Given the description of an element on the screen output the (x, y) to click on. 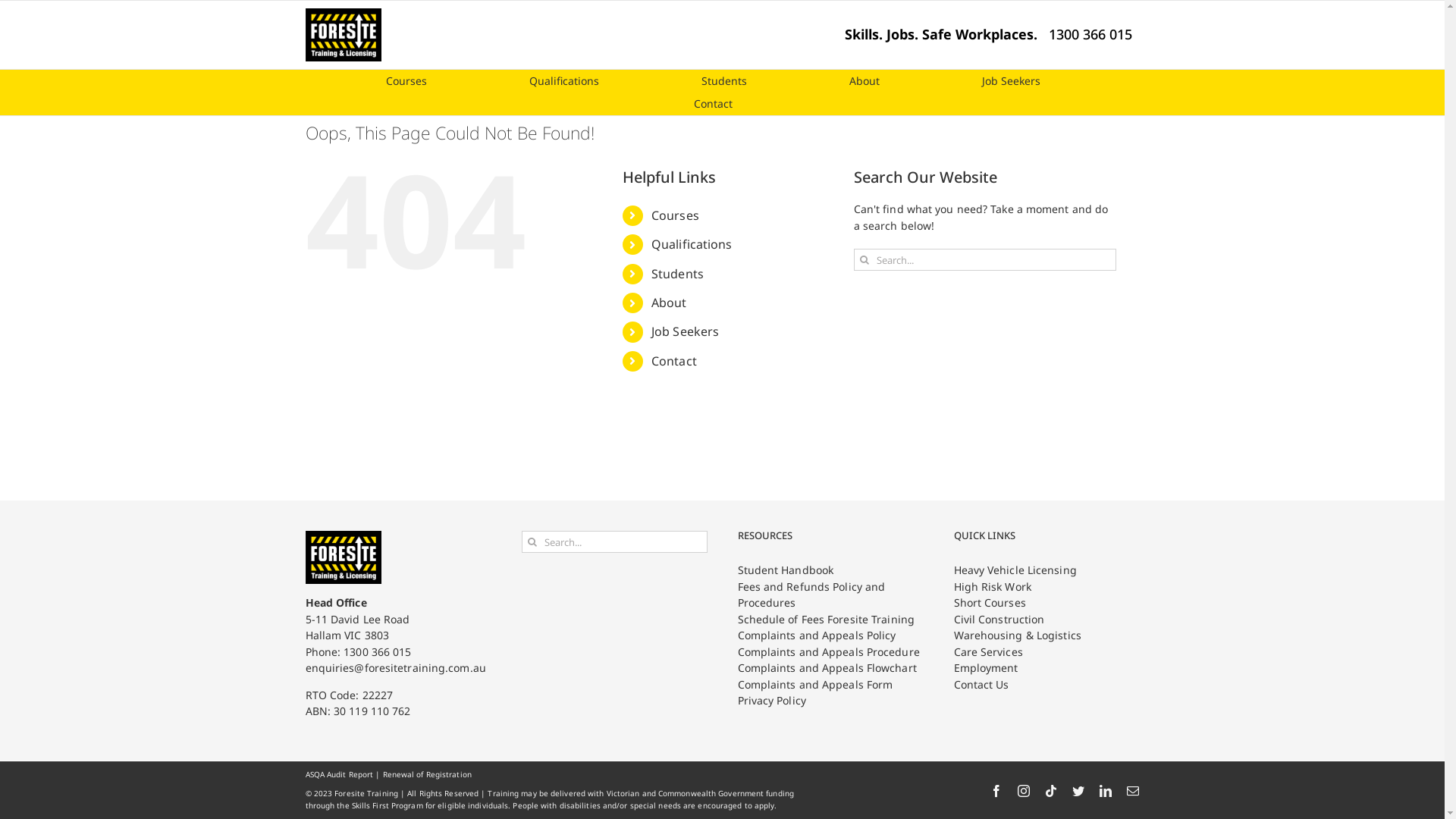
enquiries@foresitetraining.com.au Element type: text (394, 667)
Complaints and Appeals Policy Element type: text (829, 635)
Contact Element type: text (713, 103)
Courses Element type: text (675, 215)
Students Element type: text (723, 80)
Facebook Element type: text (996, 790)
Care Services Element type: text (1046, 651)
Qualifications Element type: text (563, 80)
Email Element type: text (1132, 790)
Contact Element type: text (673, 360)
Courses Element type: text (406, 80)
Tiktok Element type: text (1050, 790)
Fees and Refunds Policy and Procedures Element type: text (829, 594)
High Risk Work Element type: text (1046, 586)
Instagram Element type: text (1023, 790)
About Element type: text (863, 80)
Complaints and Appeals Form Element type: text (829, 684)
ABN: 30 119 110 762 Element type: text (357, 710)
About Element type: text (669, 302)
LinkedIn Element type: text (1105, 790)
Contact Us Element type: text (1046, 684)
Warehousing & Logistics Element type: text (1046, 635)
Renewal of Registration Element type: text (426, 773)
Short Courses Element type: text (1046, 602)
Complaints and Appeals Procedure Element type: text (829, 651)
Students Element type: text (677, 273)
Privacy Policy Element type: text (829, 700)
Schedule of Fees Foresite Training Element type: text (829, 619)
Student Handbook Element type: text (829, 569)
ASQA Audit Report Element type: text (338, 773)
Qualifications Element type: text (691, 243)
Employment Element type: text (1046, 667)
Civil Construction Element type: text (1046, 619)
Job Seekers Element type: text (1011, 80)
Complaints and Appeals Flowchart Element type: text (829, 667)
Job Seekers Element type: text (684, 331)
Twitter Element type: text (1078, 790)
Heavy Vehicle Licensing Element type: text (1046, 569)
